Given the description of an element on the screen output the (x, y) to click on. 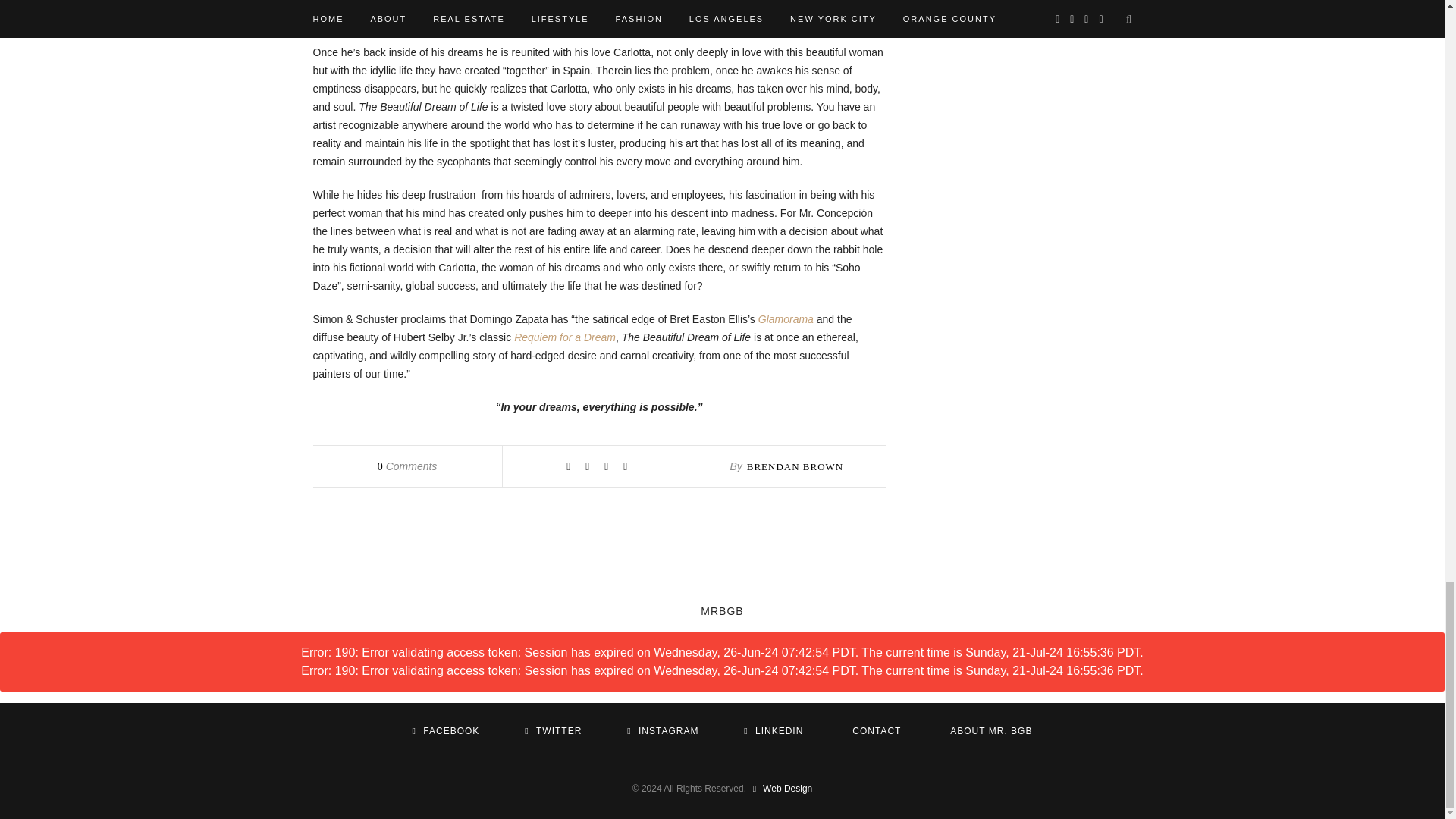
Glamorama (785, 318)
Posts by Brendan Brown (794, 466)
Requiem for a Dream (564, 337)
BRENDAN BROWN (794, 466)
Wordpress Web Design by Inspyre (780, 787)
0 Comments (407, 466)
